Given the description of an element on the screen output the (x, y) to click on. 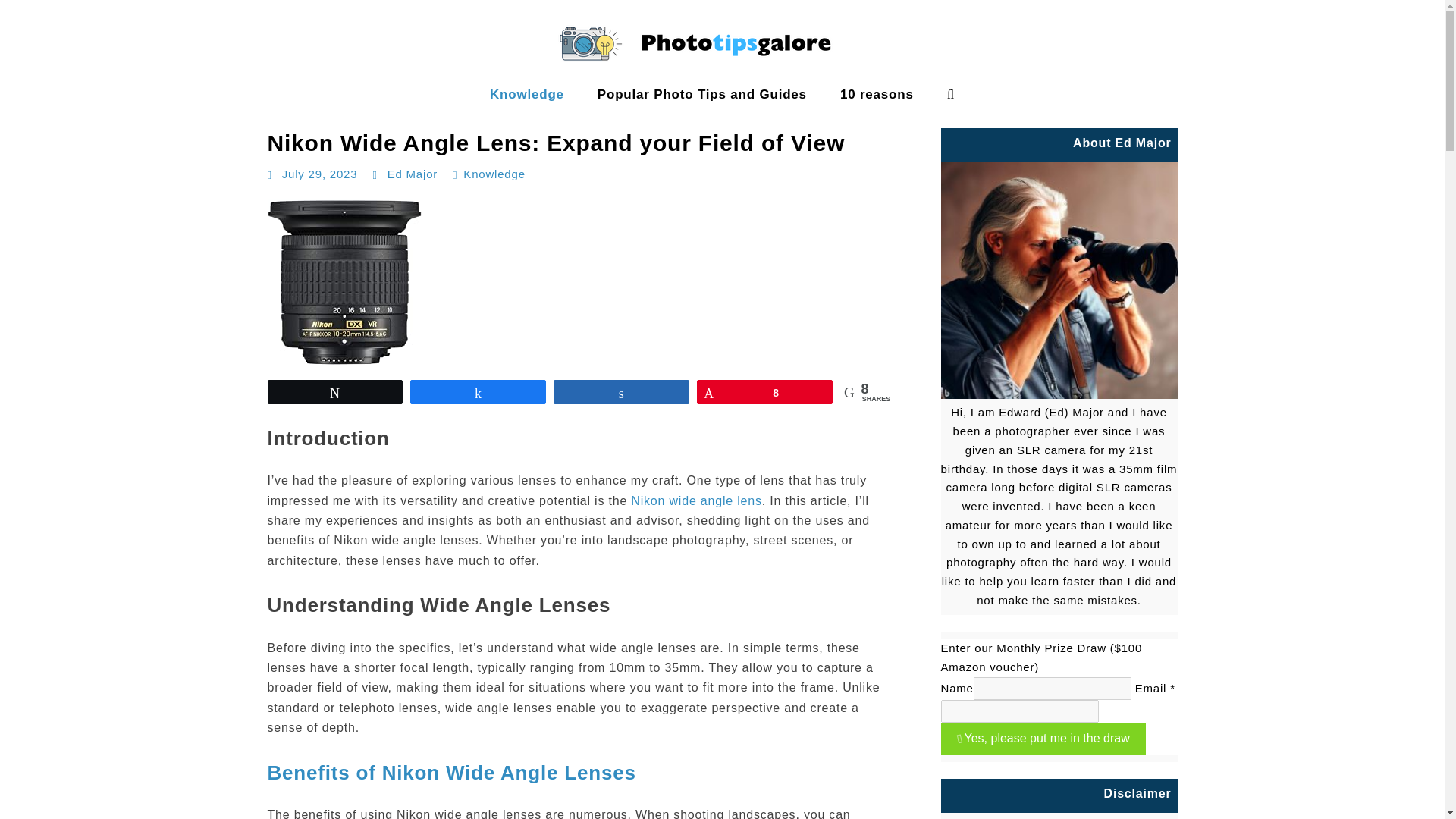
Photo tips galore (66, 109)
About Ed Major (1058, 280)
10 reasons (877, 94)
Popular Photo Tips and Guides (702, 94)
Knowledge (526, 94)
link to Nikon Wide Angle Lens: Expand your Field of View (580, 281)
Ed Major (412, 173)
Knowledge (493, 173)
Nikon wide angle lens (695, 500)
8 (764, 391)
